Given the description of an element on the screen output the (x, y) to click on. 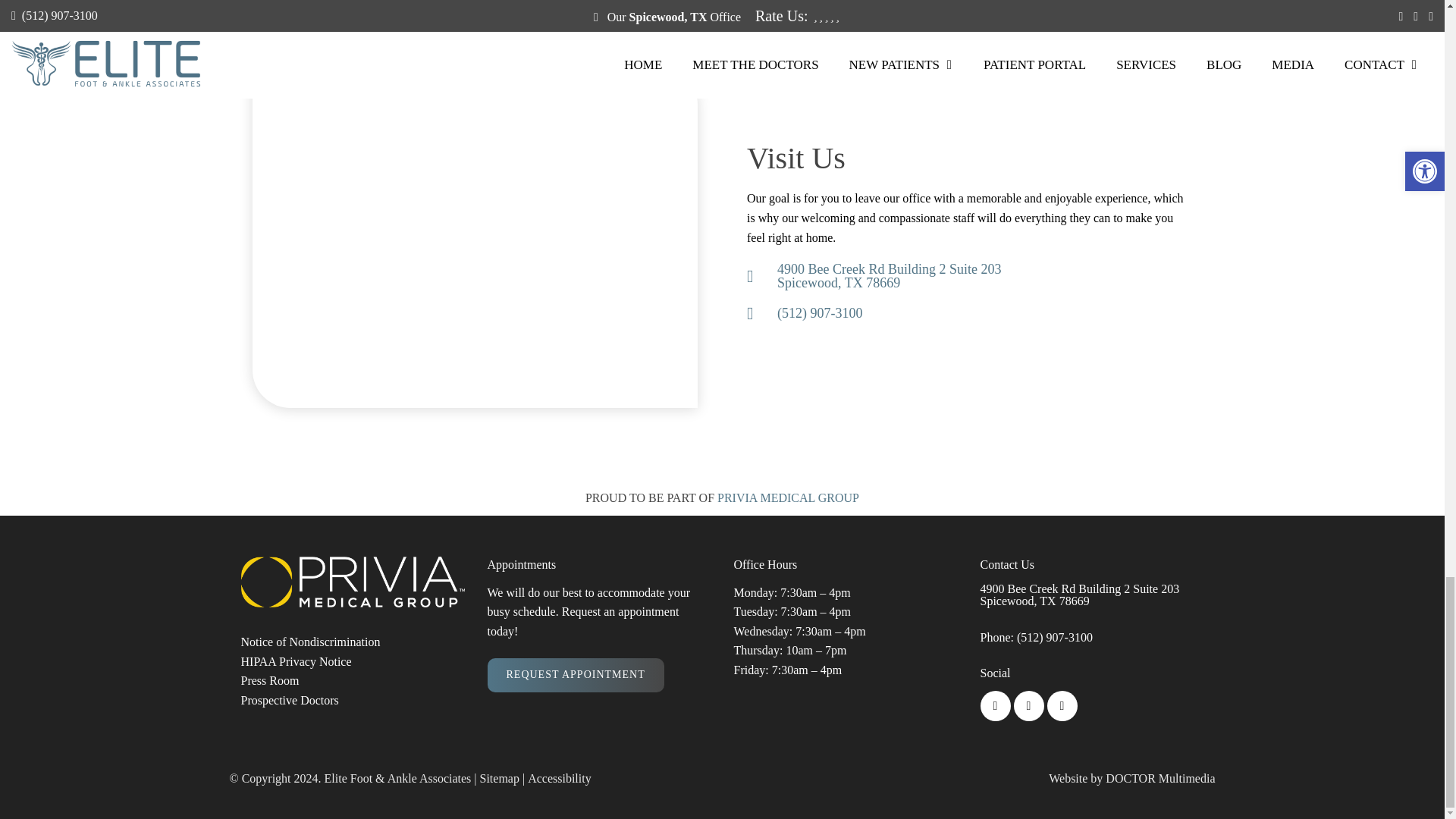
PRIVIA MEDICAL GROUP (788, 497)
Accessibility (559, 778)
Prospective Doctors (290, 700)
REQUEST APPOINTMENT (574, 674)
Press Room (1079, 595)
Sitemap (270, 680)
Notice of Nondiscrimination (499, 778)
HIPAA Privacy Notice (984, 275)
